Given the description of an element on the screen output the (x, y) to click on. 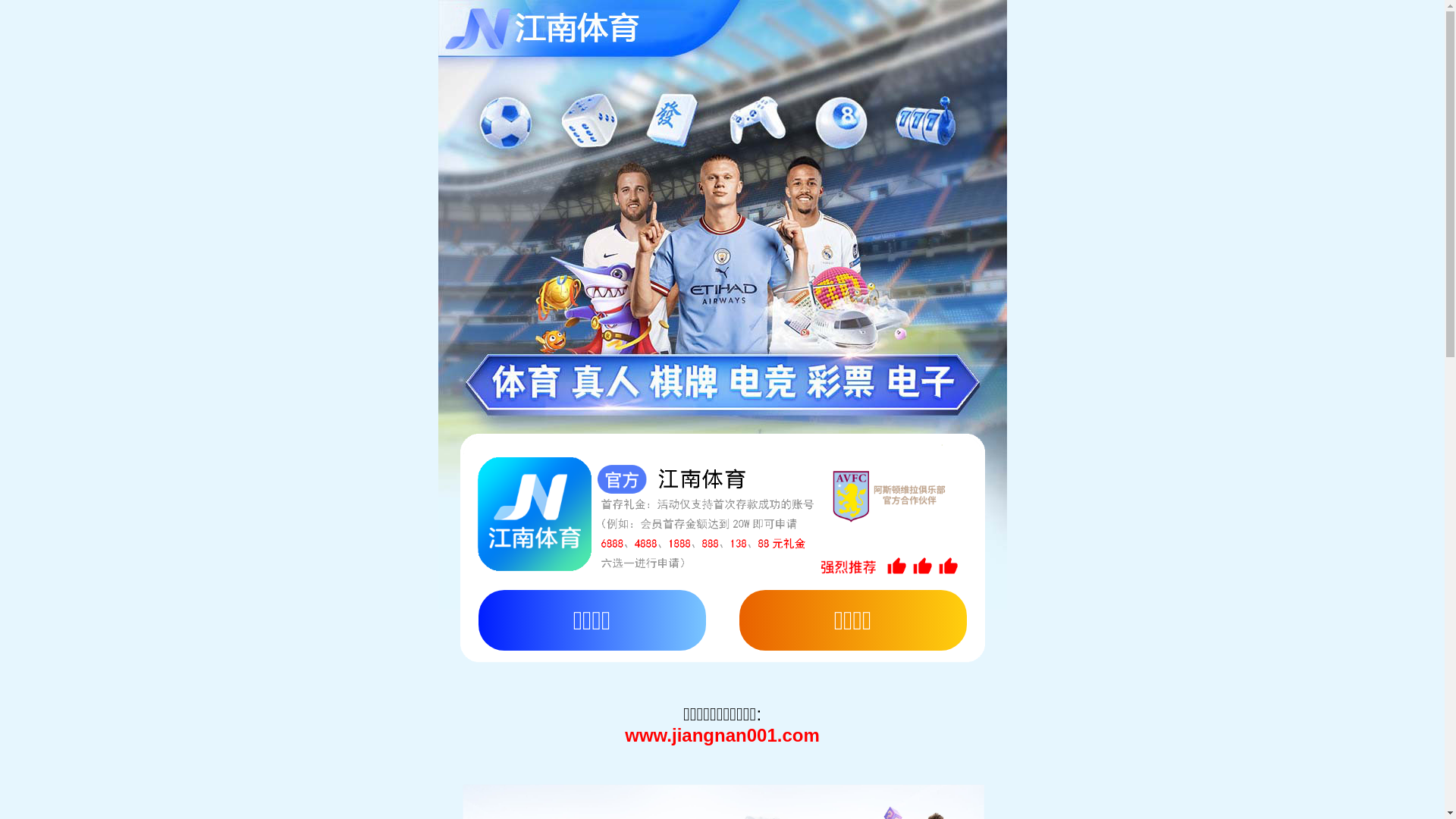
Toggle navigation Element type: text (51, 13)
EN Element type: text (44, 272)
